Given the description of an element on the screen output the (x, y) to click on. 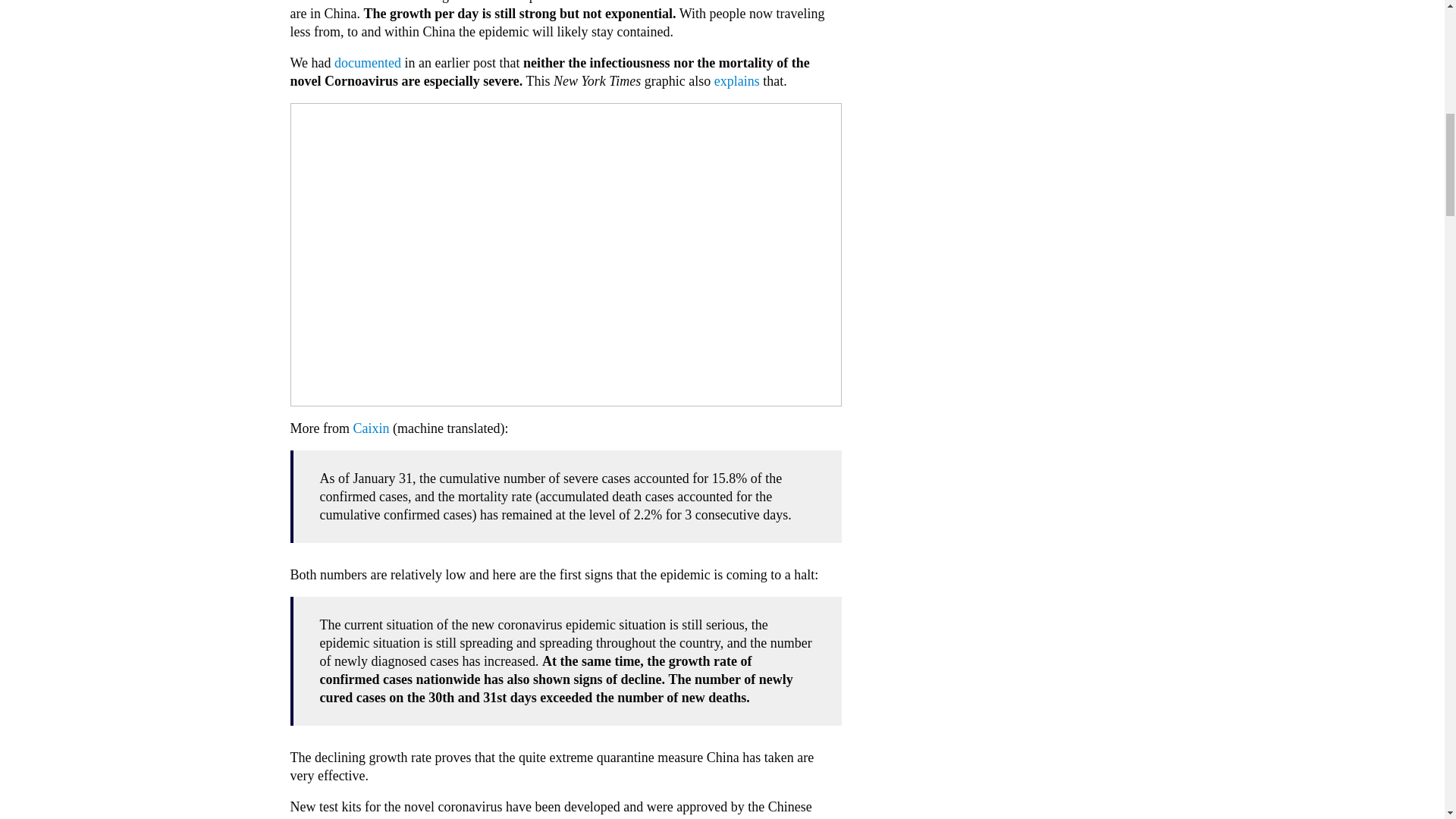
explains (737, 80)
documented (367, 62)
Caixin (370, 427)
